Given the description of an element on the screen output the (x, y) to click on. 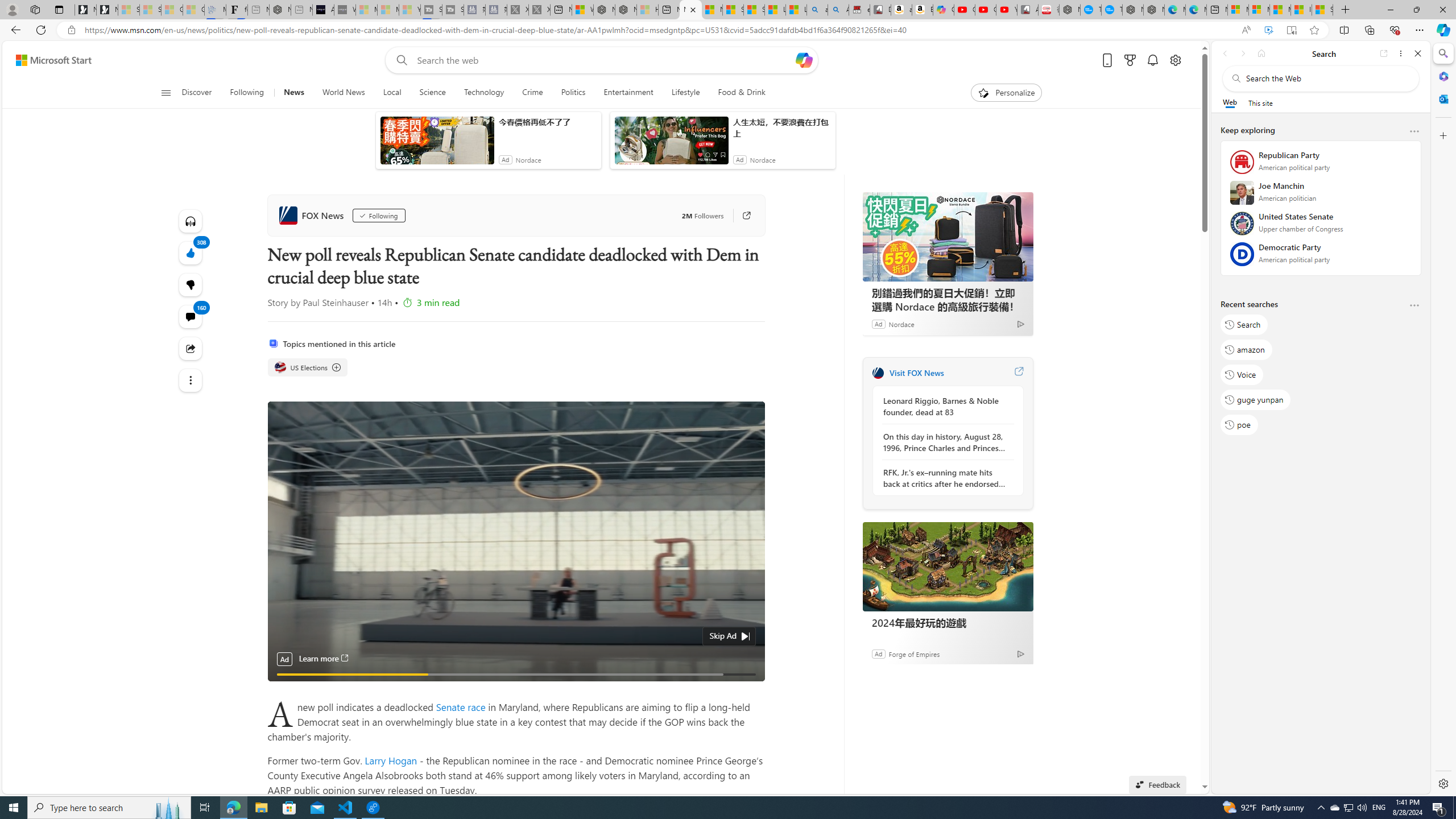
What's the best AI voice generator? - voice.ai - Sleeping (345, 9)
Search the web (1326, 78)
Skip Ad (722, 635)
Local (391, 92)
All Cubot phones (1026, 9)
US Elections (279, 367)
Customize (1442, 135)
More like this308Fewer like thisView comments (190, 284)
Food & Drink (737, 92)
